Given the description of an element on the screen output the (x, y) to click on. 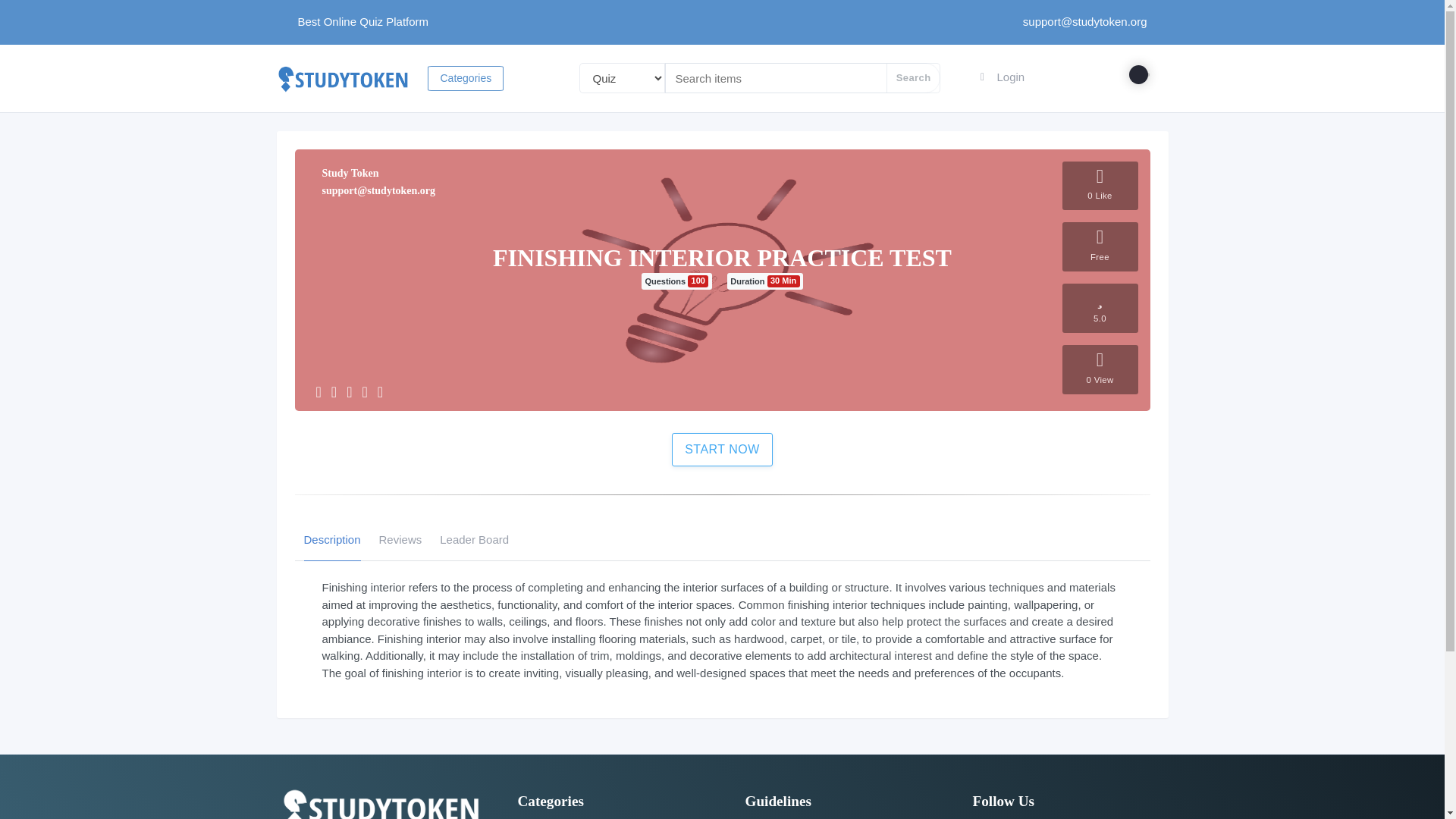
Leader Board (473, 539)
Categories (465, 77)
Description (330, 539)
Search (913, 78)
START NOW (722, 449)
Disclaimer (767, 818)
Reviews (400, 539)
Login (1000, 77)
